Given the description of an element on the screen output the (x, y) to click on. 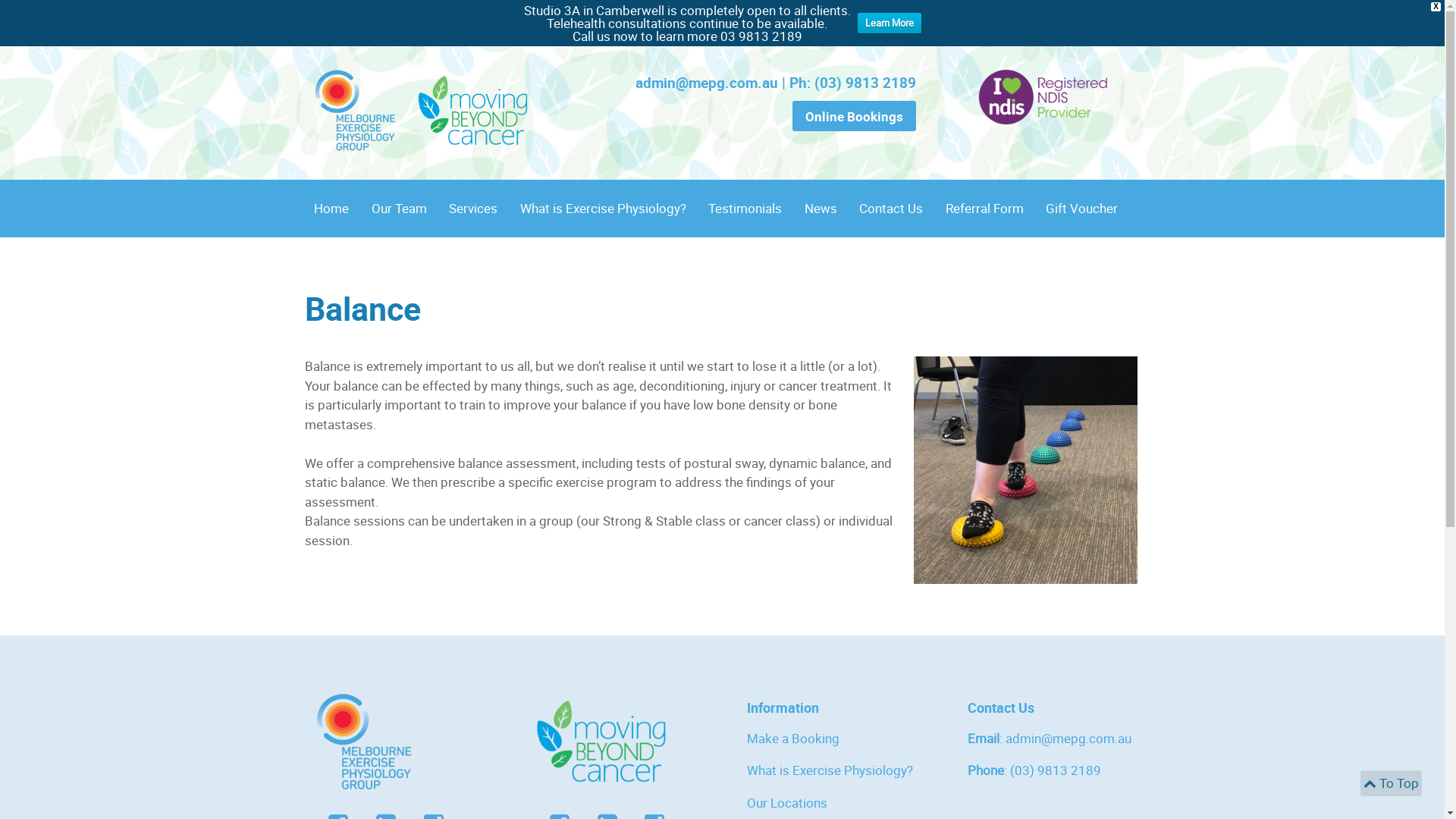
Gift Voucher Element type: text (1081, 208)
admin@mepg.com.au Element type: text (1068, 737)
admin@mepg.com.au Element type: text (706, 82)
Referral Form Element type: text (984, 208)
(03) 9813 2189 Element type: text (865, 82)
Make a Booking Element type: text (792, 737)
Home Element type: text (331, 208)
To Top Element type: text (1391, 783)
Learn More Element type: text (888, 22)
(03) 9813 2189 Element type: text (1055, 769)
Services Element type: text (473, 208)
Our Locations Element type: text (786, 802)
News Element type: text (820, 208)
Testimonials Element type: text (745, 208)
Online Bookings Element type: text (854, 115)
What is Exercise Physiology? Element type: text (829, 769)
Contact Us Element type: text (890, 208)
What is Exercise Physiology? Element type: text (603, 208)
Our Team Element type: text (398, 208)
